Given the description of an element on the screen output the (x, y) to click on. 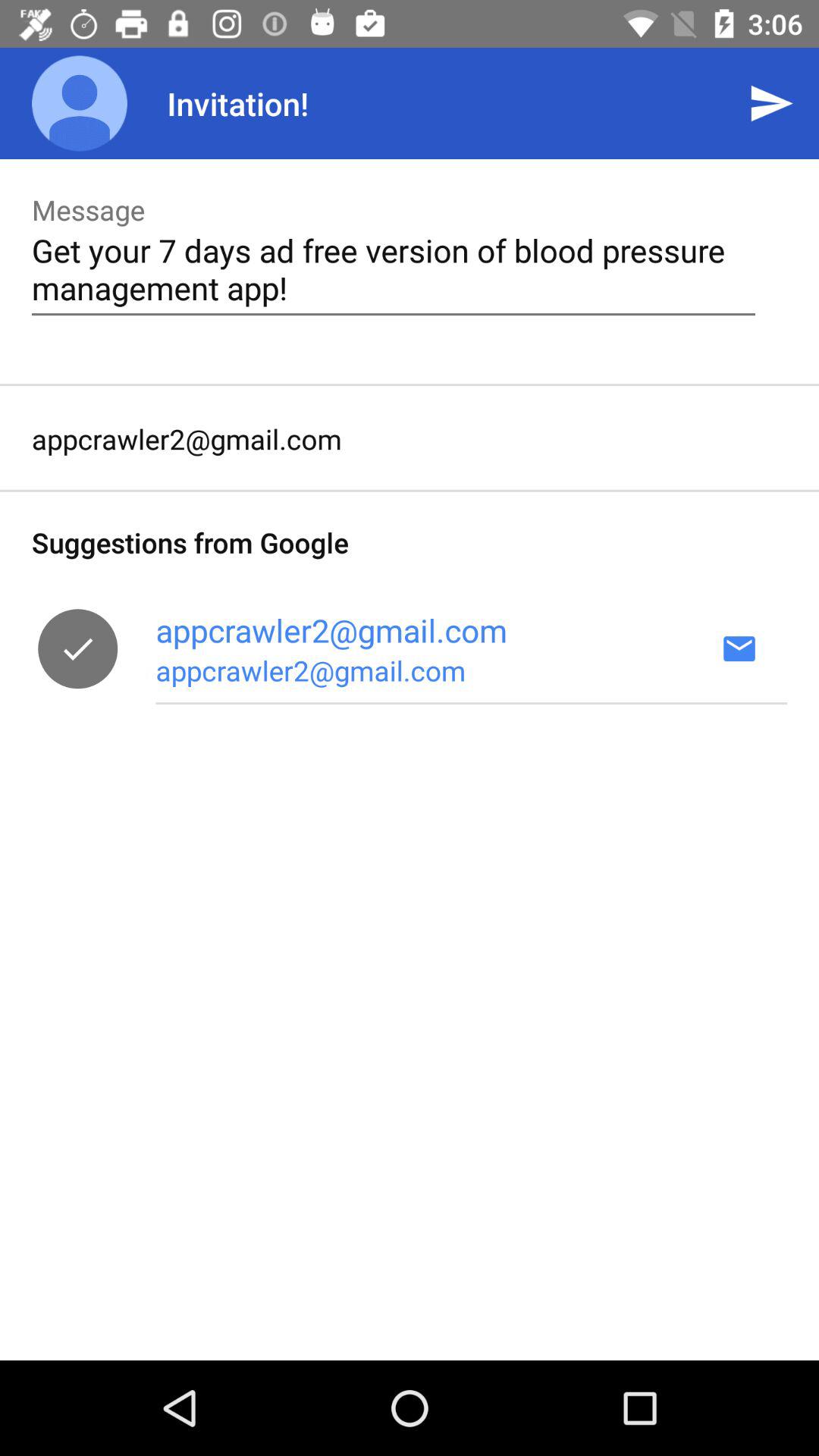
turn off icon above the get your 7 (771, 103)
